Given the description of an element on the screen output the (x, y) to click on. 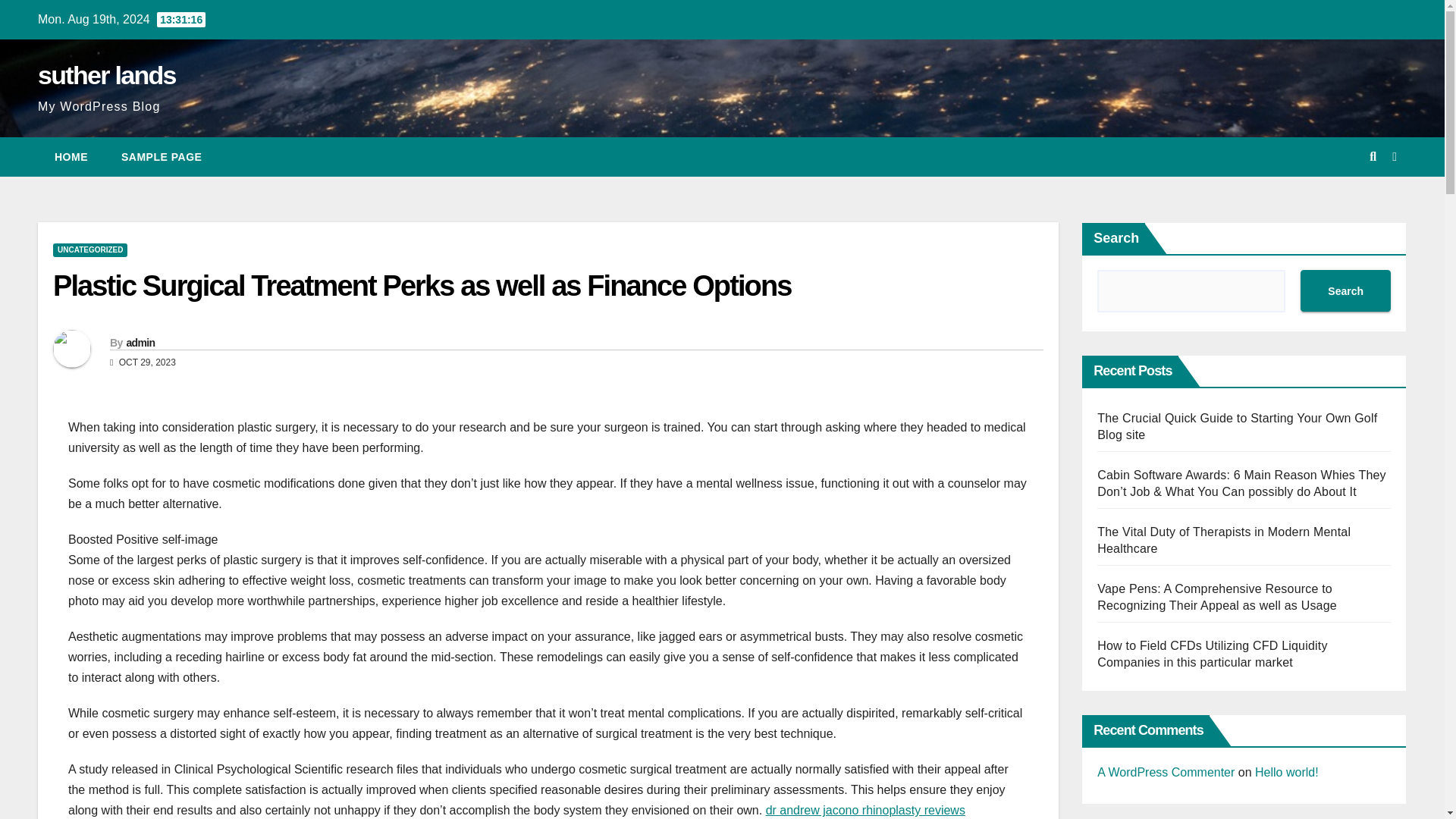
suther lands (106, 74)
SAMPLE PAGE (161, 156)
HOME (70, 156)
Search (1345, 291)
admin (139, 342)
Plastic Surgical Treatment Perks as well as Finance Options (421, 286)
dr andrew jacono rhinoplasty reviews (865, 809)
UNCATEGORIZED (90, 250)
Home (70, 156)
